Given the description of an element on the screen output the (x, y) to click on. 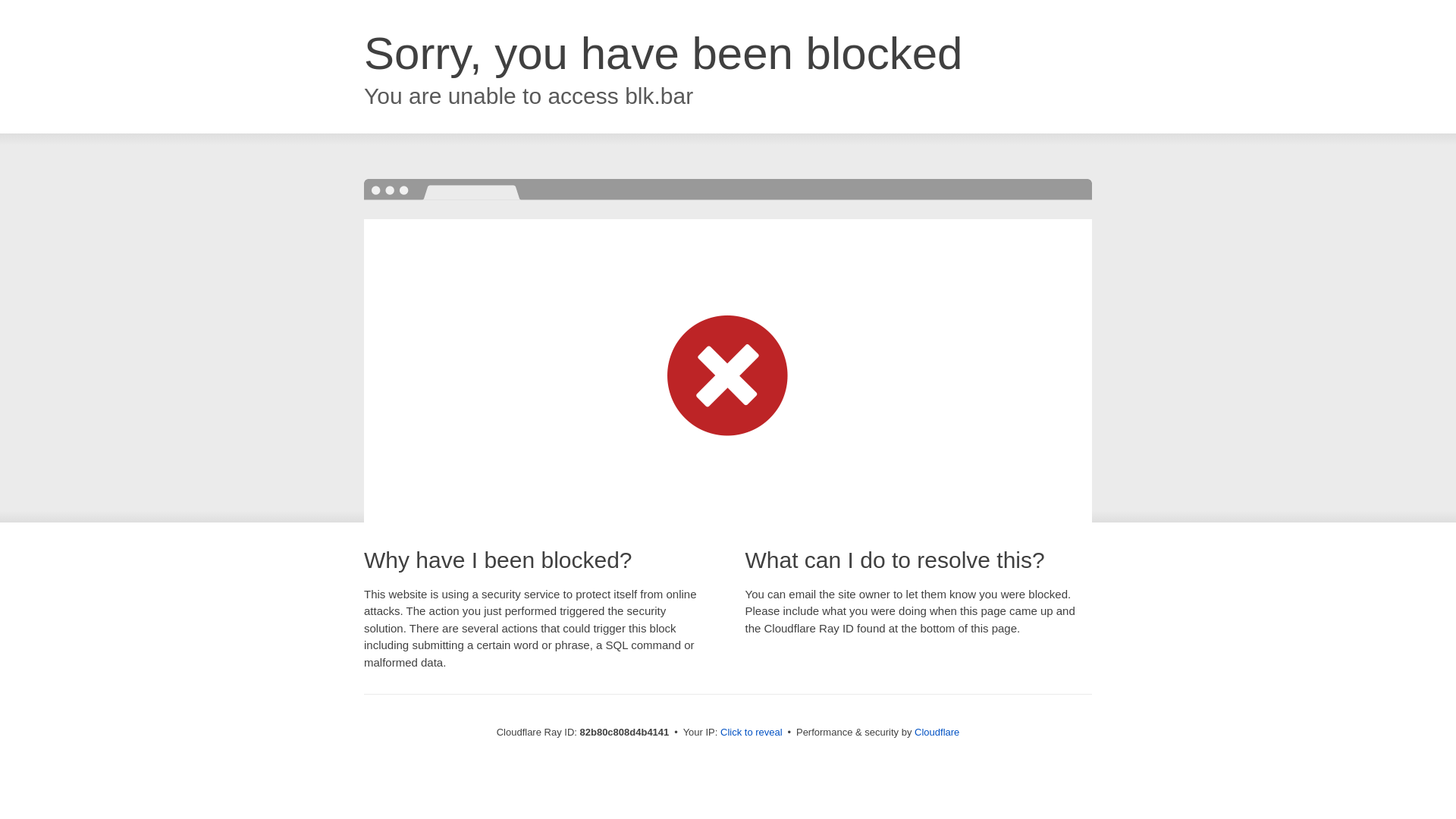
Click to reveal Element type: text (751, 732)
Cloudflare Element type: text (936, 731)
